Given the description of an element on the screen output the (x, y) to click on. 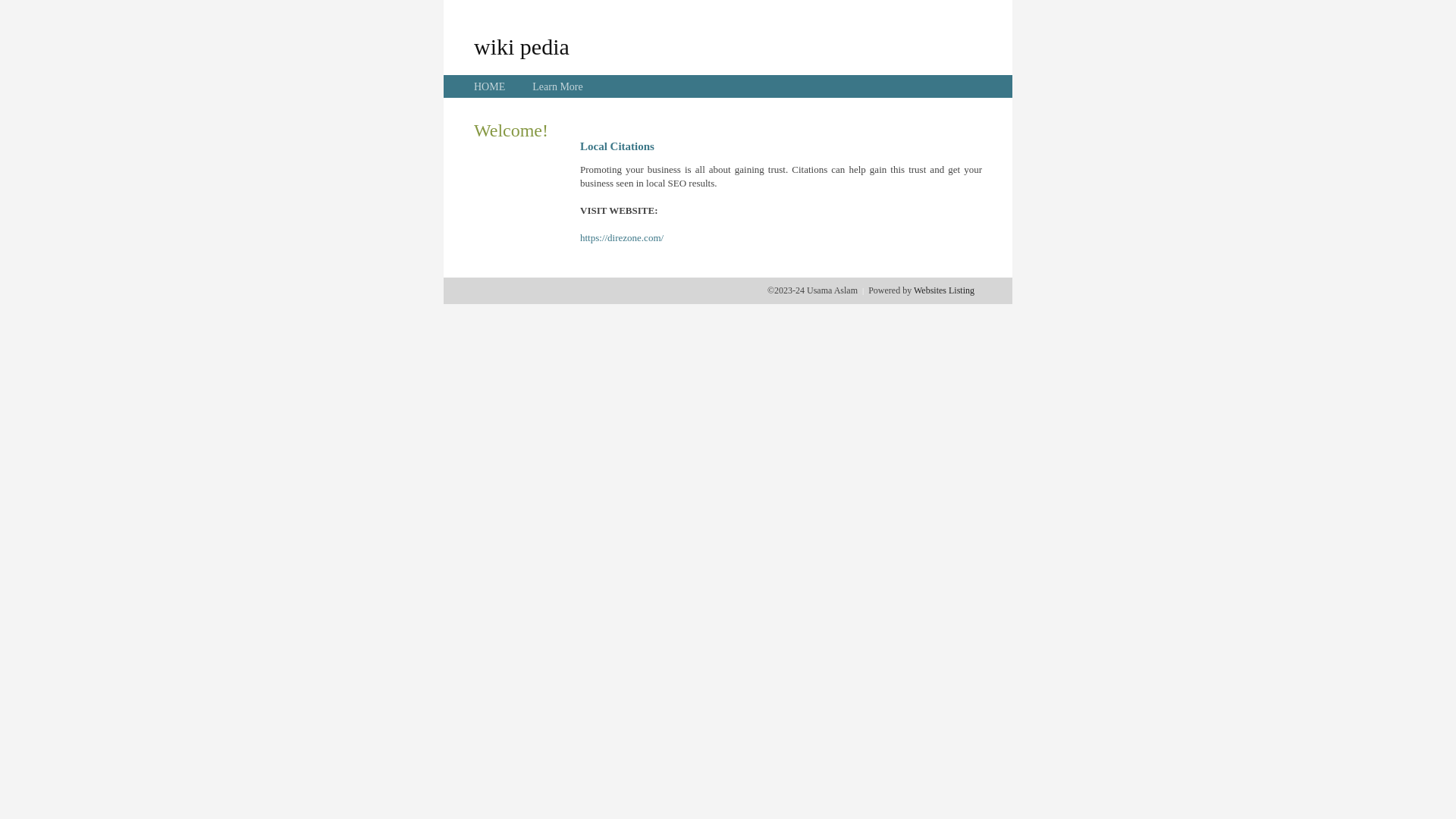
Websites Listing Element type: text (943, 290)
HOME Element type: text (489, 86)
wiki pedia Element type: text (521, 46)
https://direzone.com/ Element type: text (621, 237)
Learn More Element type: text (557, 86)
